Given the description of an element on the screen output the (x, y) to click on. 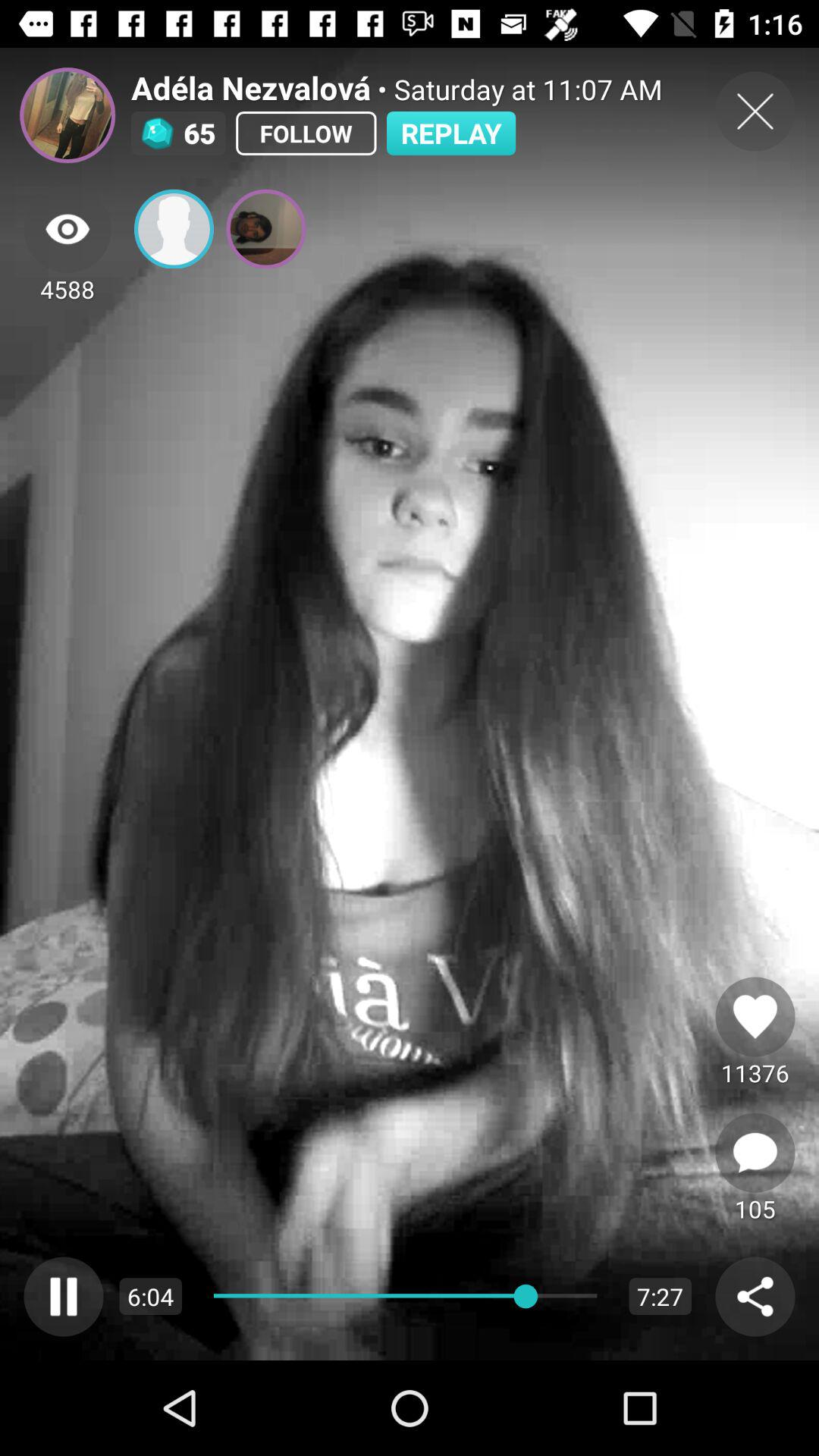
go to next (755, 1152)
